Given the description of an element on the screen output the (x, y) to click on. 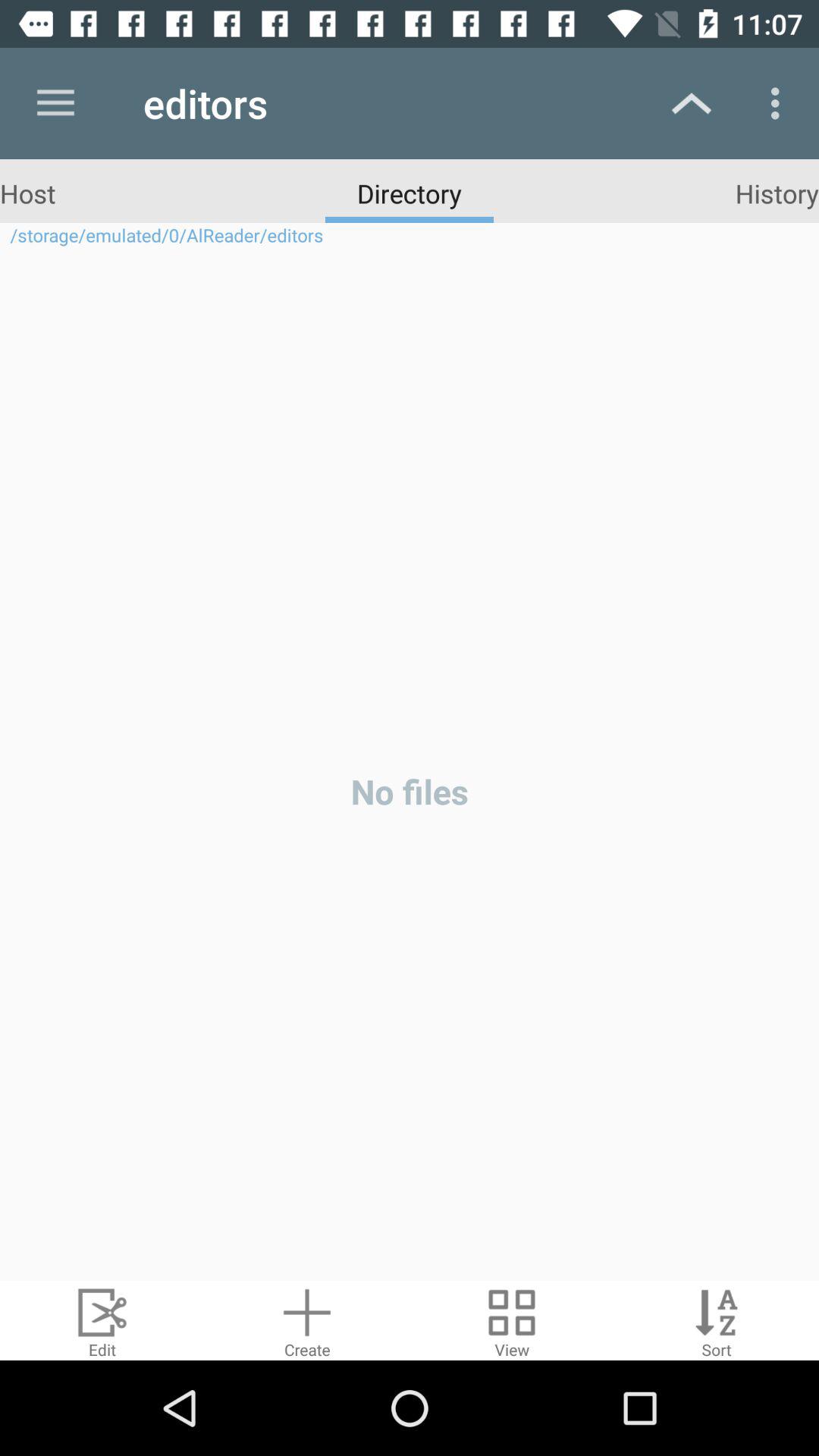
create a document (306, 1320)
